Given the description of an element on the screen output the (x, y) to click on. 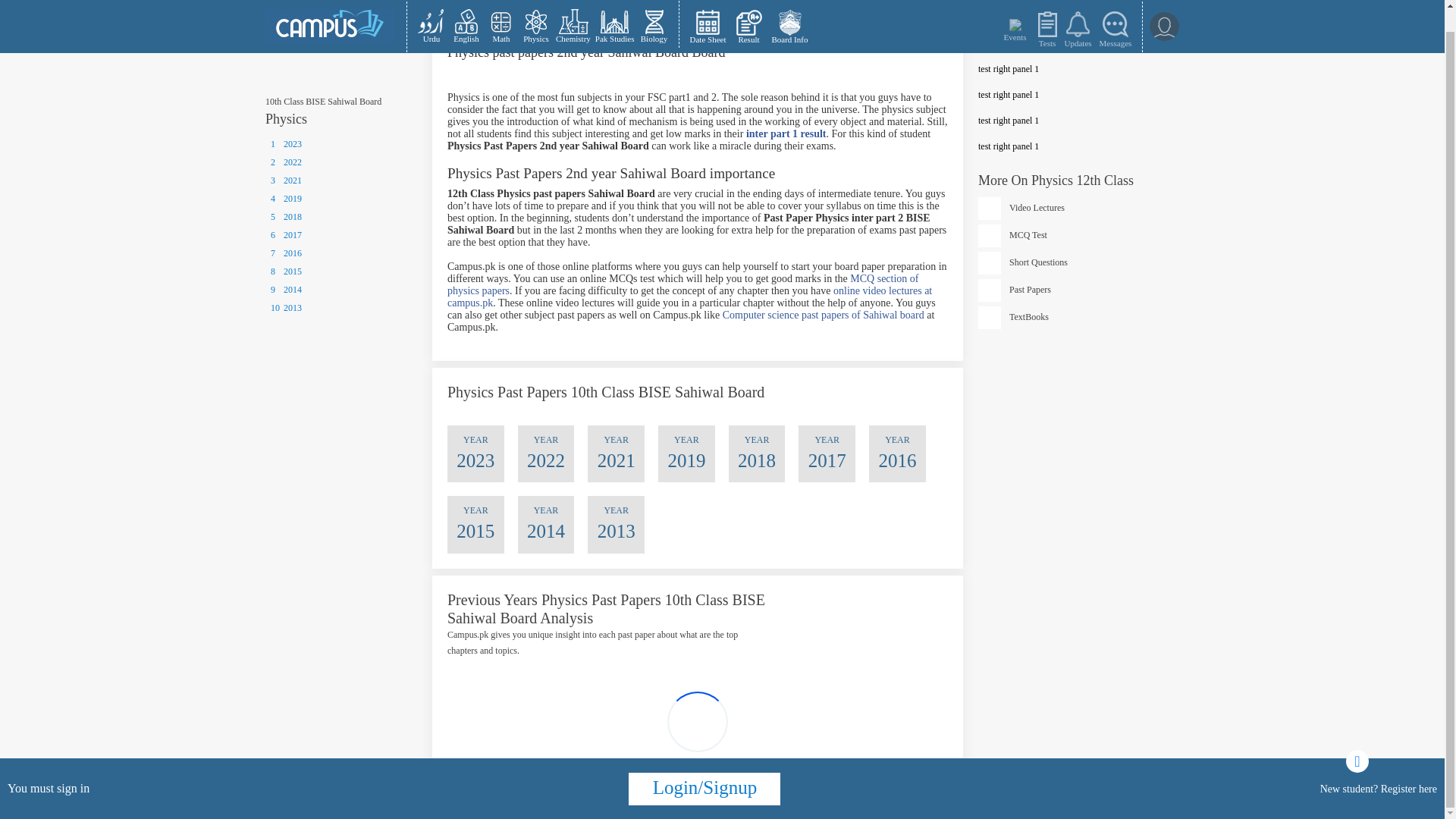
Chemistry (572, 13)
Register here (1408, 767)
Math (500, 13)
Physics (535, 13)
Urdu (430, 13)
English (465, 13)
Pak Studies (614, 13)
Biology (654, 13)
